Given the description of an element on the screen output the (x, y) to click on. 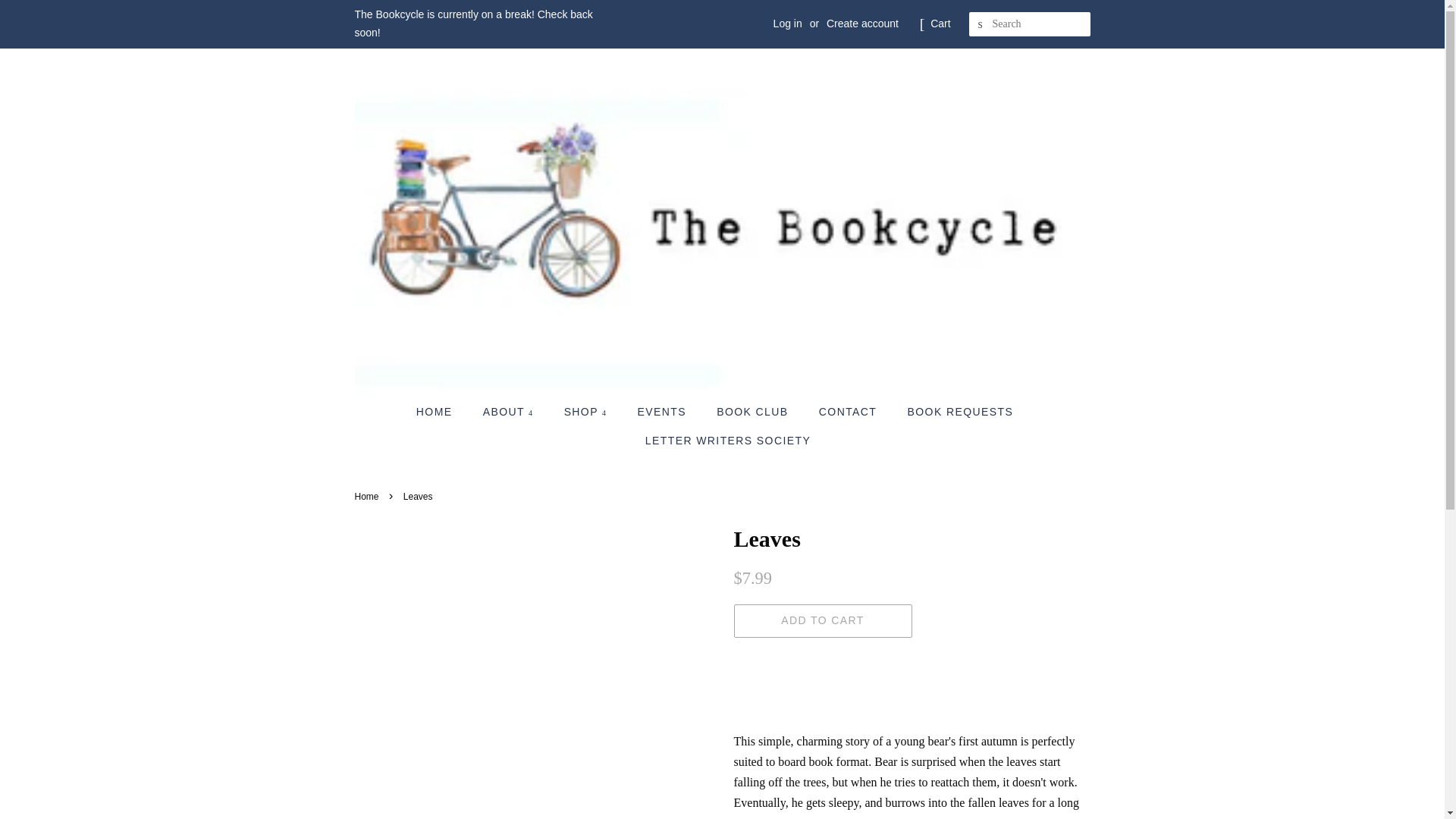
ABOUT (509, 412)
Back to the frontpage (368, 496)
HOME (441, 412)
Create account (862, 23)
Cart (940, 24)
Log in (787, 23)
SEARCH (980, 24)
